Given the description of an element on the screen output the (x, y) to click on. 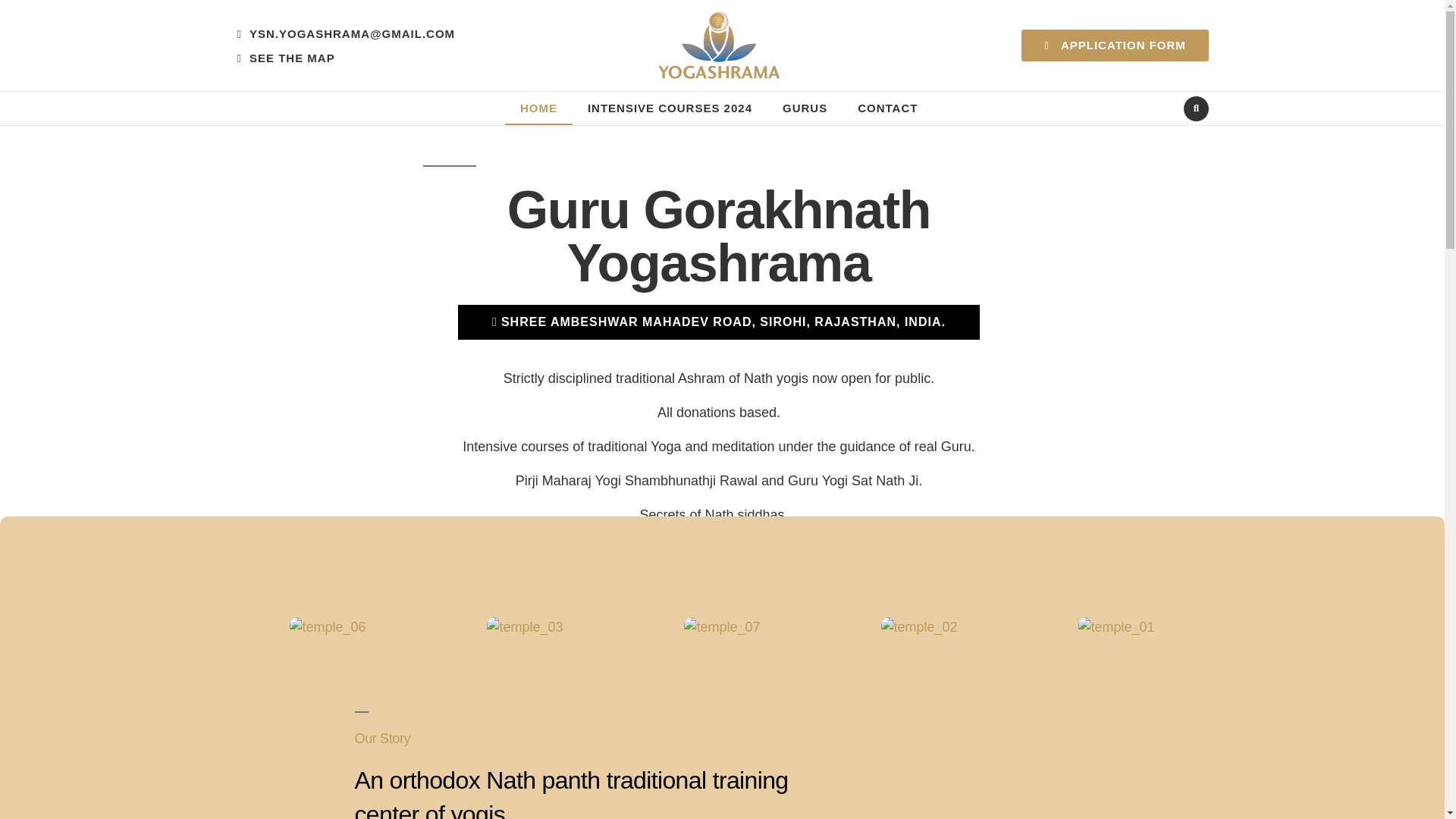
GURUS (805, 108)
SEE THE MAP (284, 57)
INTENSIVE COURSES 2024 (669, 108)
SHREE AMBESHWAR MAHADEV ROAD, SIROHI, RAJASTHAN, INDIA. (718, 321)
CONTACT (888, 108)
APPLICATION FORM (1115, 45)
HOME (538, 108)
